Given the description of an element on the screen output the (x, y) to click on. 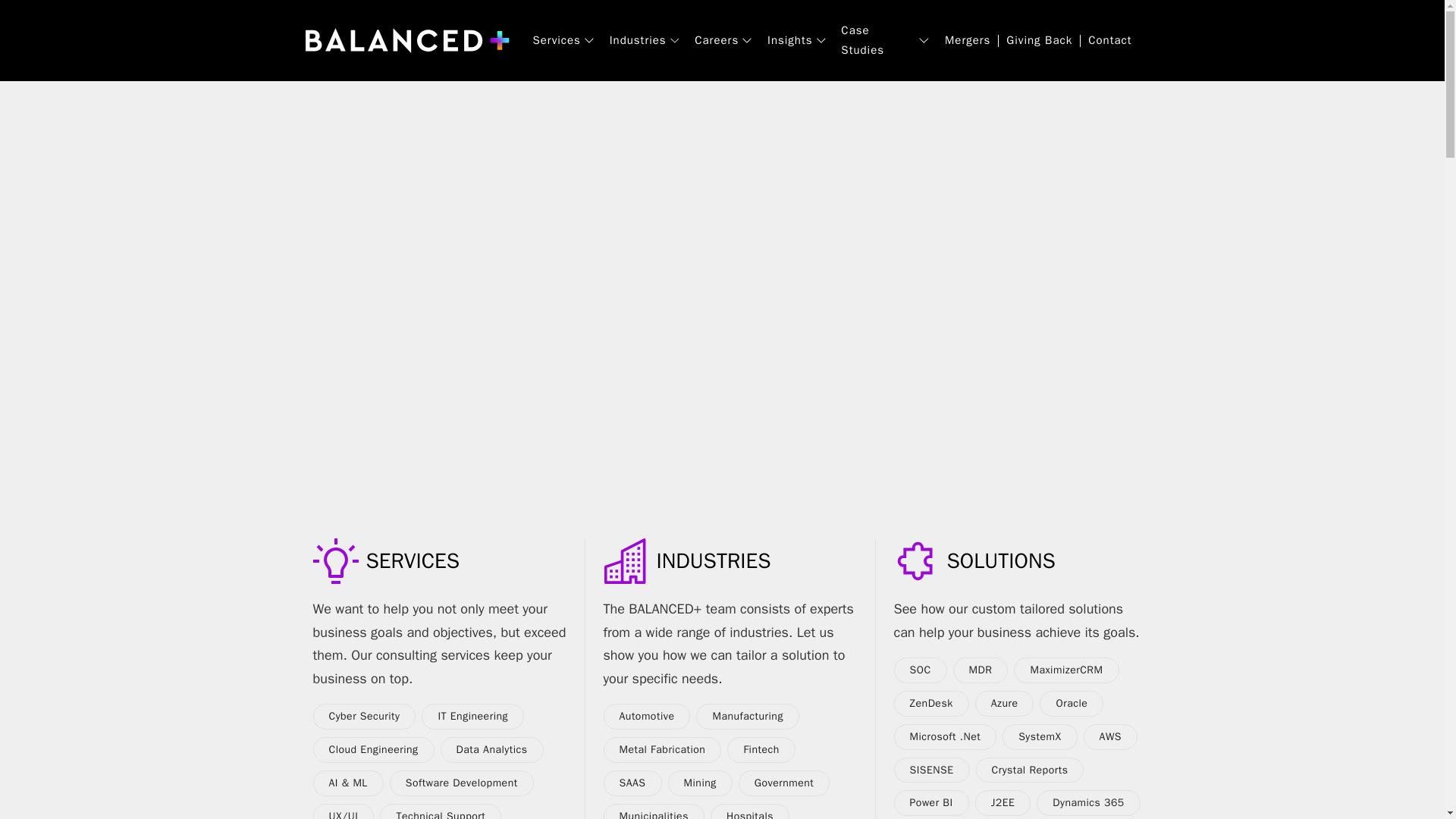
Services (555, 40)
Careers (716, 40)
Industries (638, 40)
Insights (789, 40)
